Given the description of an element on the screen output the (x, y) to click on. 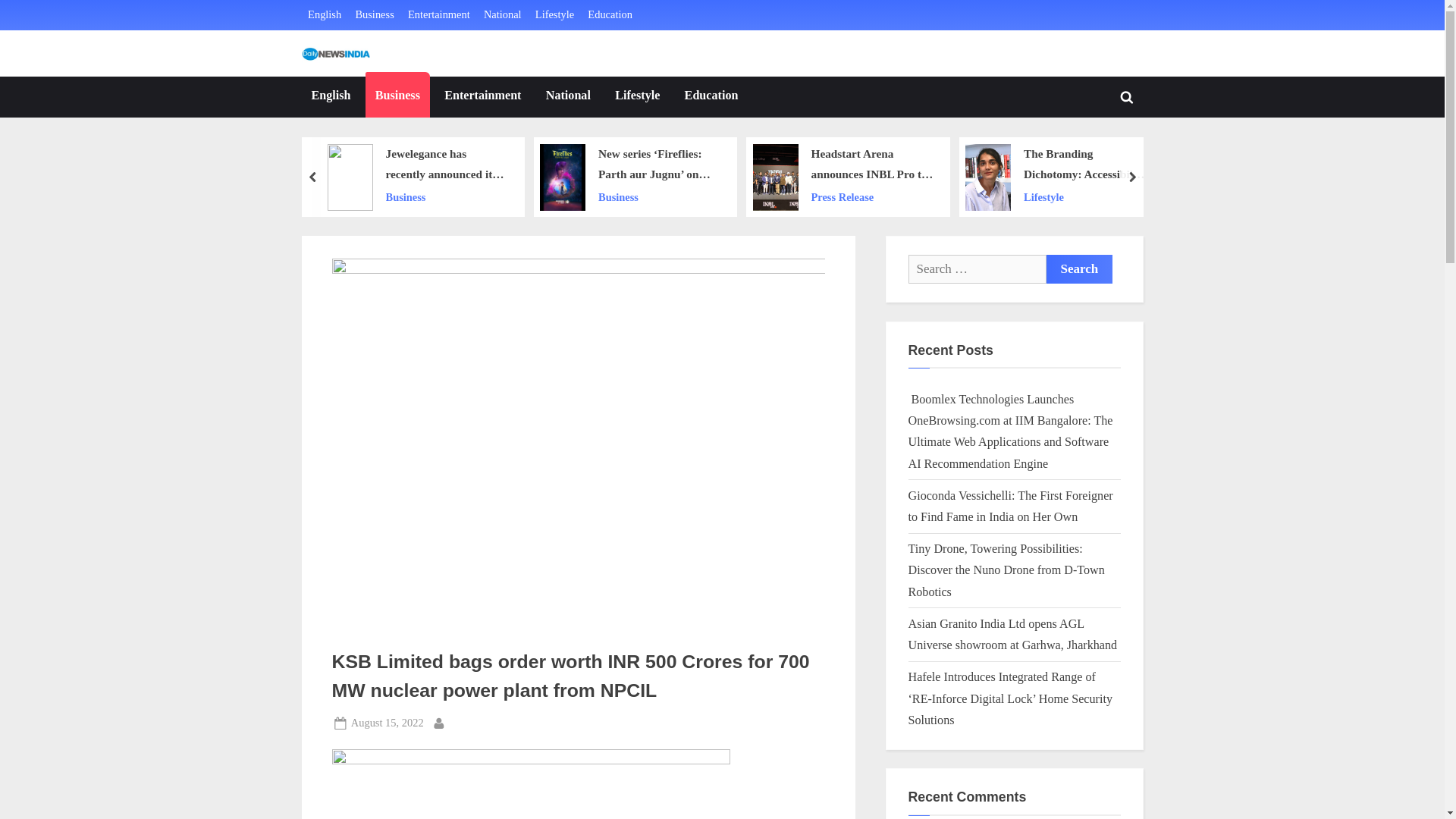
National (502, 15)
Education (711, 96)
Education (609, 15)
Business (374, 15)
English (331, 96)
Business (446, 197)
Lifestyle (637, 96)
Business (658, 197)
English (323, 15)
Lifestyle (554, 15)
Search (1079, 268)
Business (397, 96)
Toggle search form (1126, 96)
Press Release (871, 197)
